Given the description of an element on the screen output the (x, y) to click on. 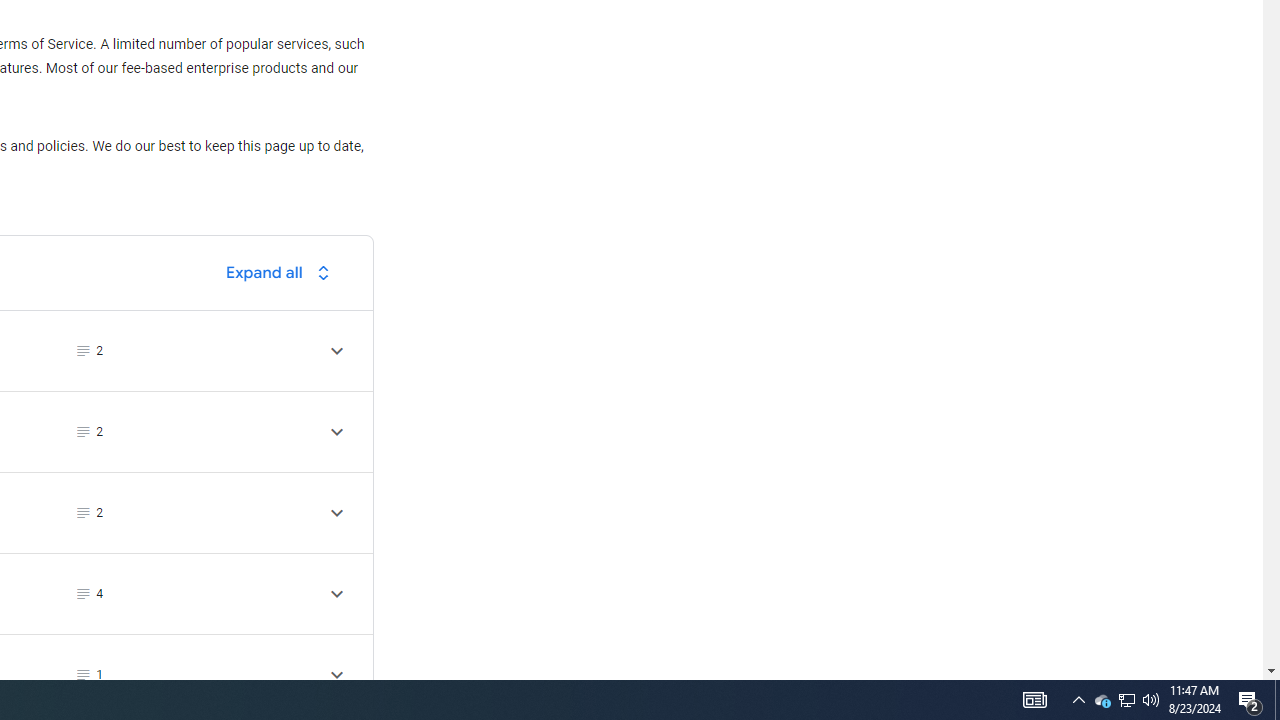
Expand all (283, 272)
